Given the description of an element on the screen output the (x, y) to click on. 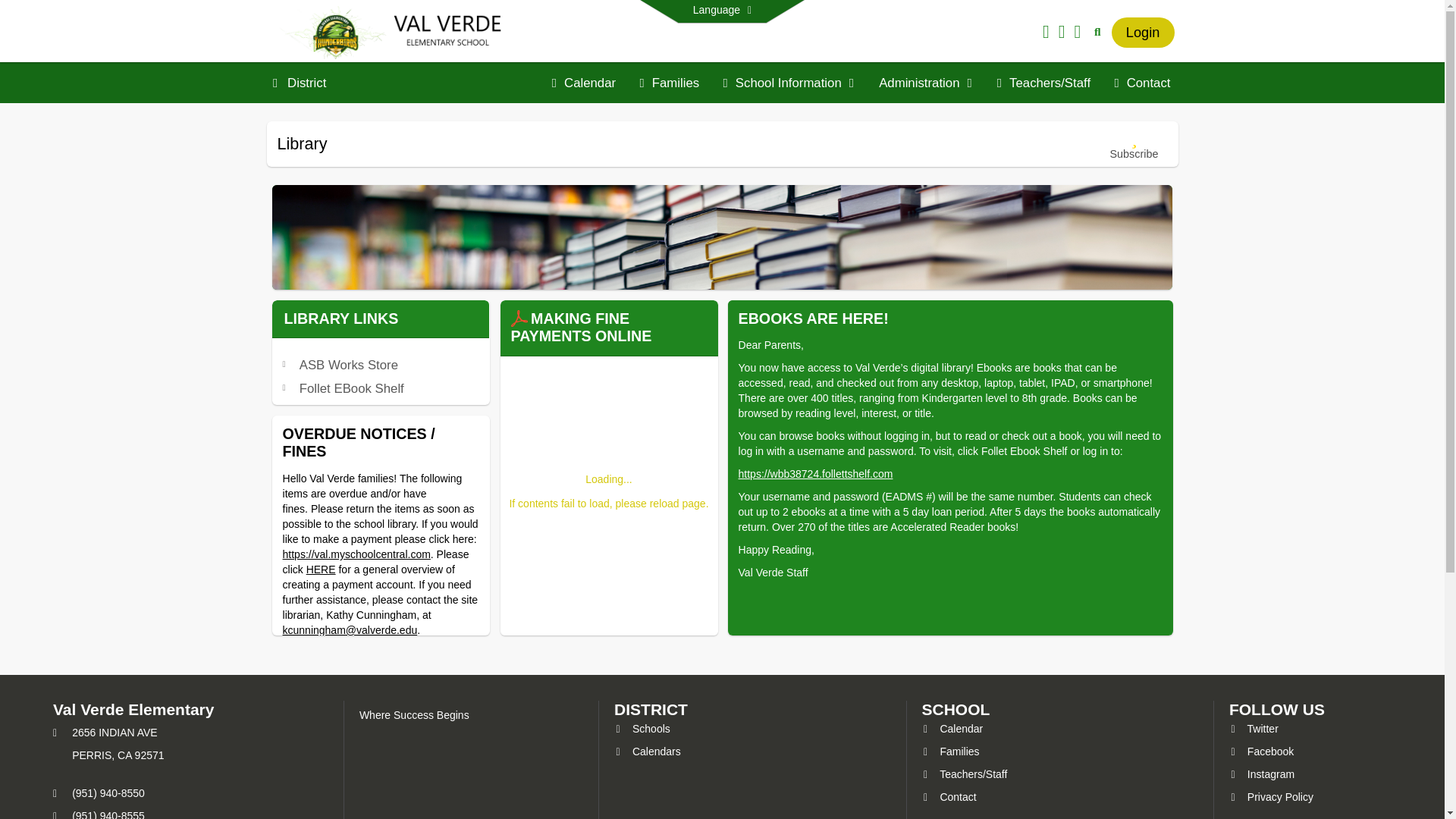
Calendars (647, 751)
Val Verde Elementary (398, 31)
Administration (924, 83)
Schools (641, 728)
Calendar (952, 728)
Facebook (1261, 751)
School Information (789, 83)
Instagram (1261, 774)
Contact (948, 797)
DISTRICT (650, 709)
